Given the description of an element on the screen output the (x, y) to click on. 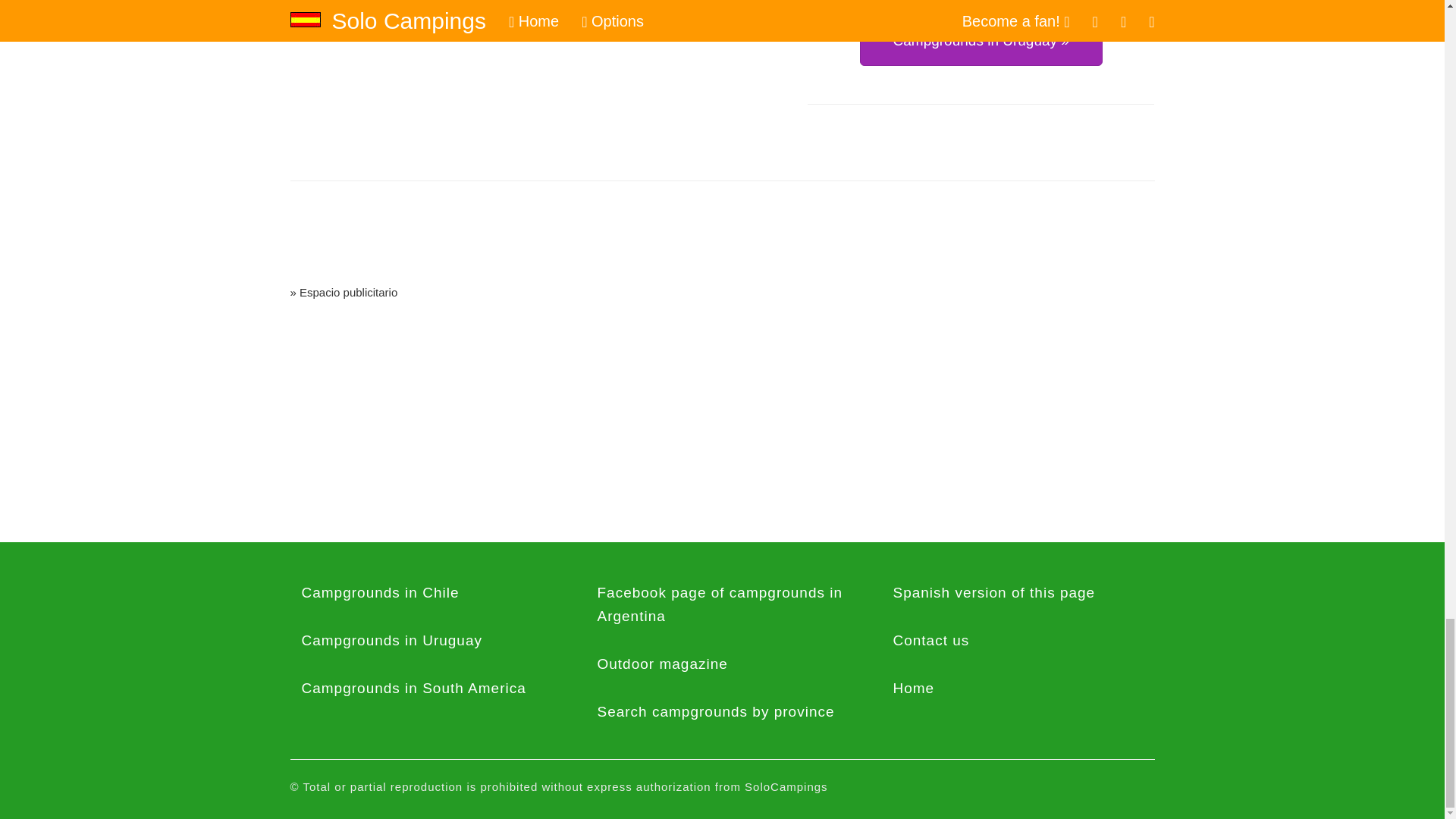
Spanish version of this page (1017, 593)
Facebook page of campgrounds in Argentina (722, 605)
Campgrounds in Chile (425, 593)
Home (1017, 688)
Contact us (1017, 640)
Outdoor magazine (722, 664)
Campgrounds in South America (425, 688)
Campgrounds in Uruguay (425, 640)
Search campgrounds by province (722, 712)
